Given the description of an element on the screen output the (x, y) to click on. 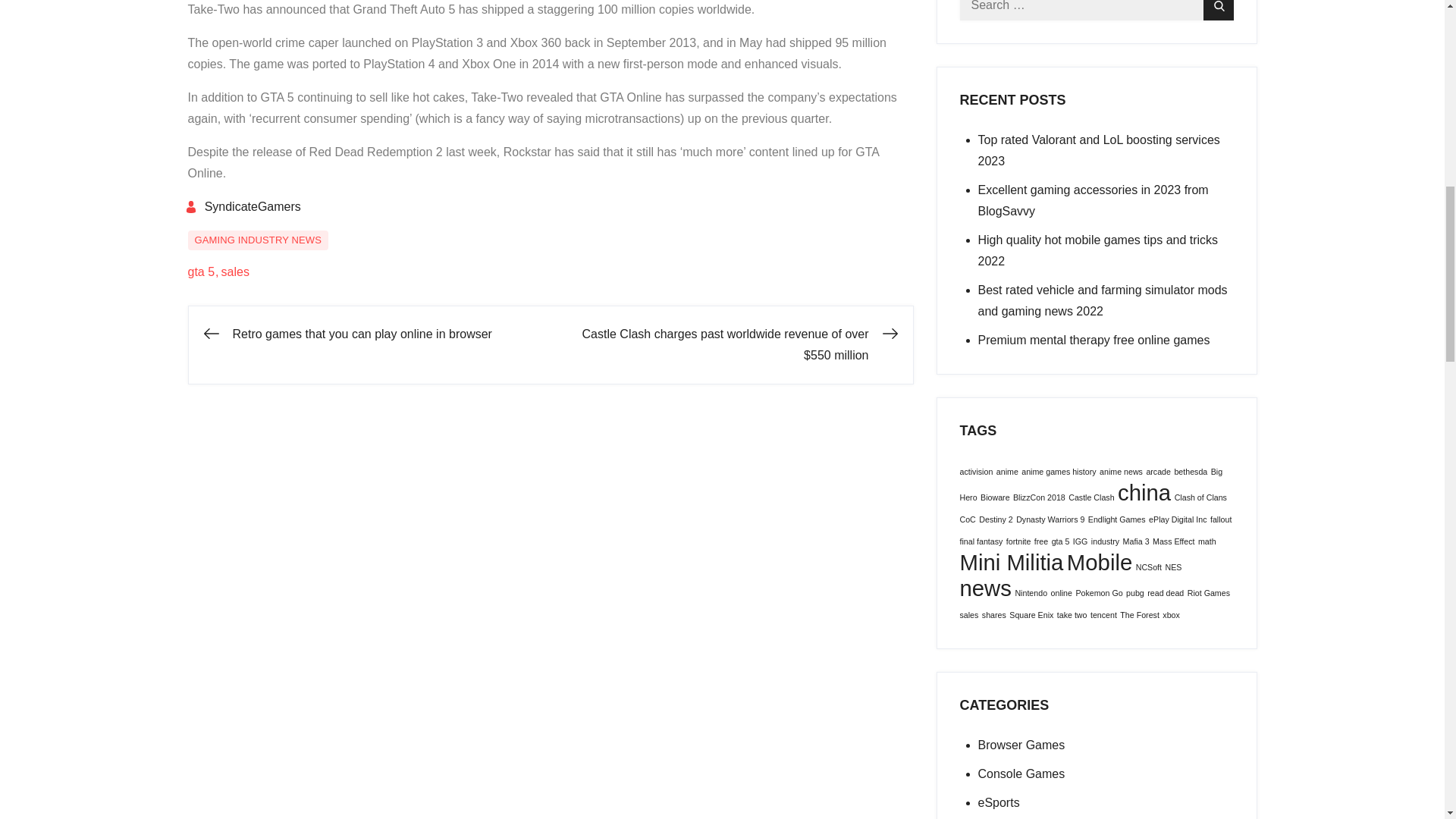
anime news (1120, 470)
gta 5 (204, 271)
sales (234, 271)
GAMING INDUSTRY NEWS (258, 240)
SyndicateGamers (242, 205)
Premium mental therapy free online games (1093, 339)
activision (975, 470)
anime games history (1059, 470)
bethesda (1190, 470)
anime (1006, 470)
Excellent gaming accessories in 2023 from BlogSavvy (1093, 200)
arcade (1157, 470)
